Given the description of an element on the screen output the (x, y) to click on. 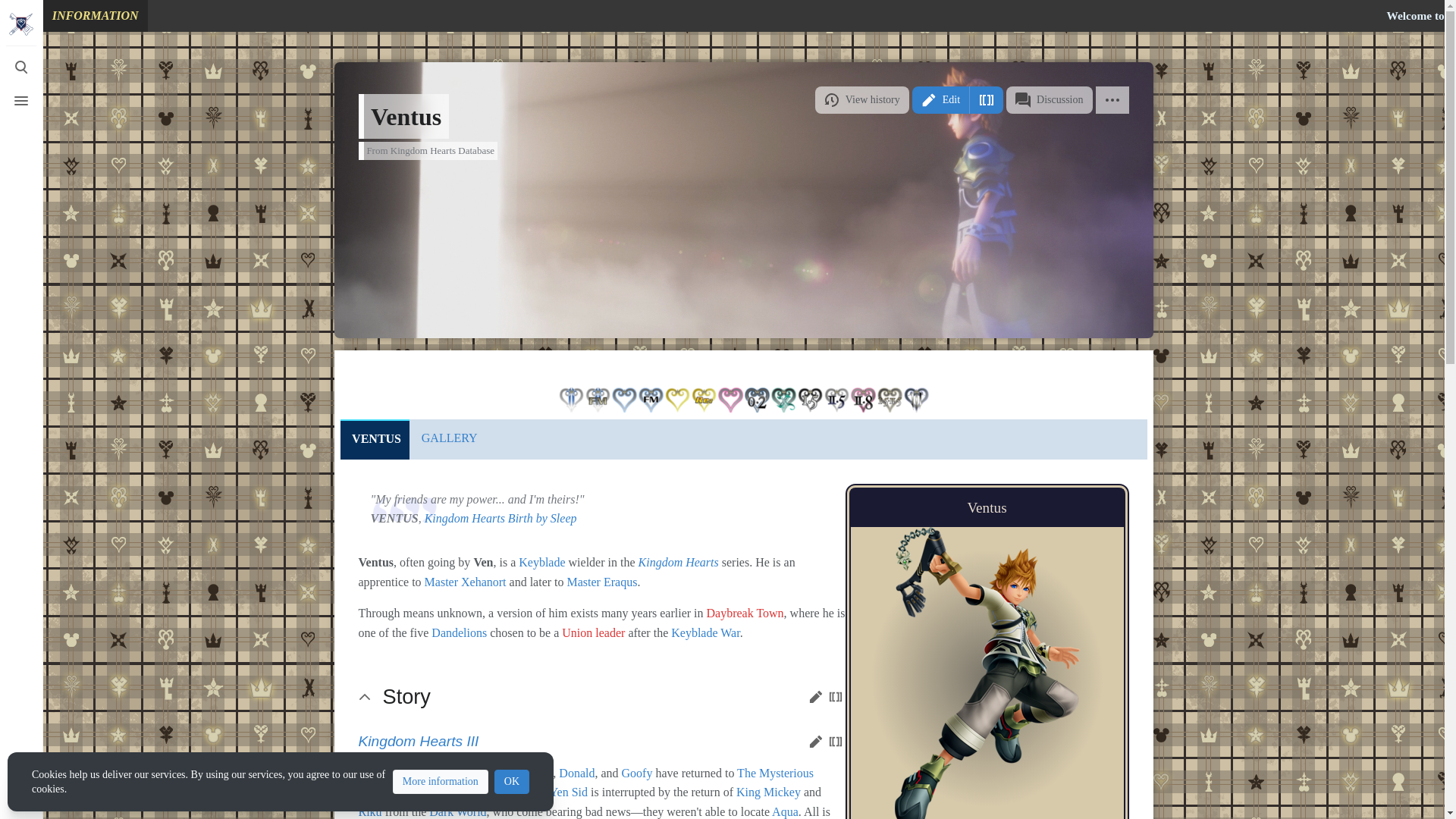
Toggle menu (20, 100)
Preferences (20, 764)
Toggle personal menu (20, 797)
